Given the description of an element on the screen output the (x, y) to click on. 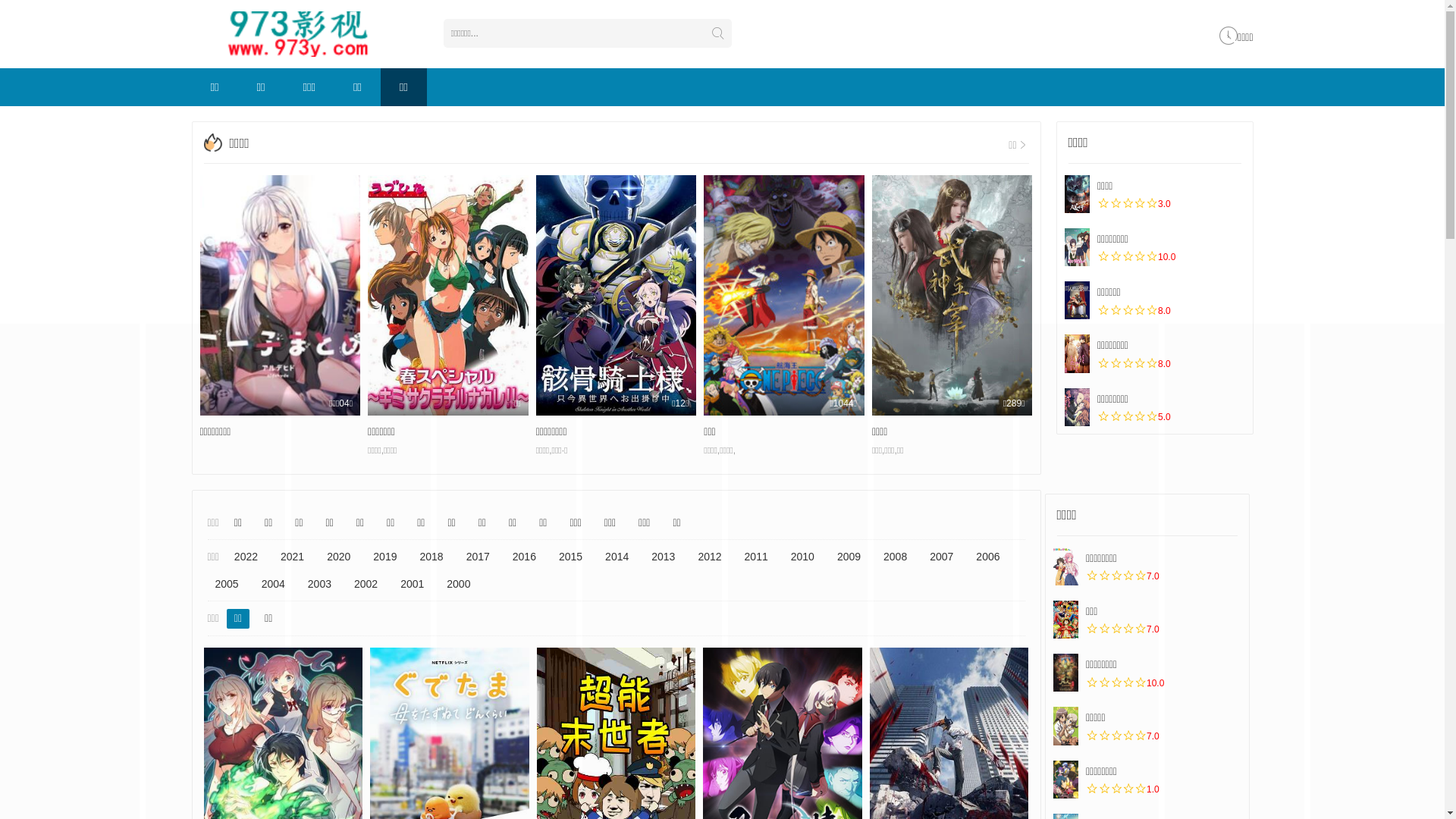
2012 Element type: text (709, 557)
2015 Element type: text (570, 557)
2013 Element type: text (662, 557)
2017 Element type: text (477, 557)
2010 Element type: text (802, 557)
2000 Element type: text (458, 584)
2003 Element type: text (319, 584)
2019 Element type: text (384, 557)
2018 Element type: text (430, 557)
2004 Element type: text (273, 584)
2021 Element type: text (292, 557)
2002 Element type: text (365, 584)
2020 Element type: text (338, 557)
2022 Element type: text (245, 557)
2006 Element type: text (987, 557)
2005 Element type: text (226, 584)
2009 Element type: text (848, 557)
2016 Element type: text (524, 557)
2011 Element type: text (756, 557)
2007 Element type: text (941, 557)
2014 Element type: text (616, 557)
2008 Element type: text (894, 557)
2001 Element type: text (411, 584)
